Given the description of an element on the screen output the (x, y) to click on. 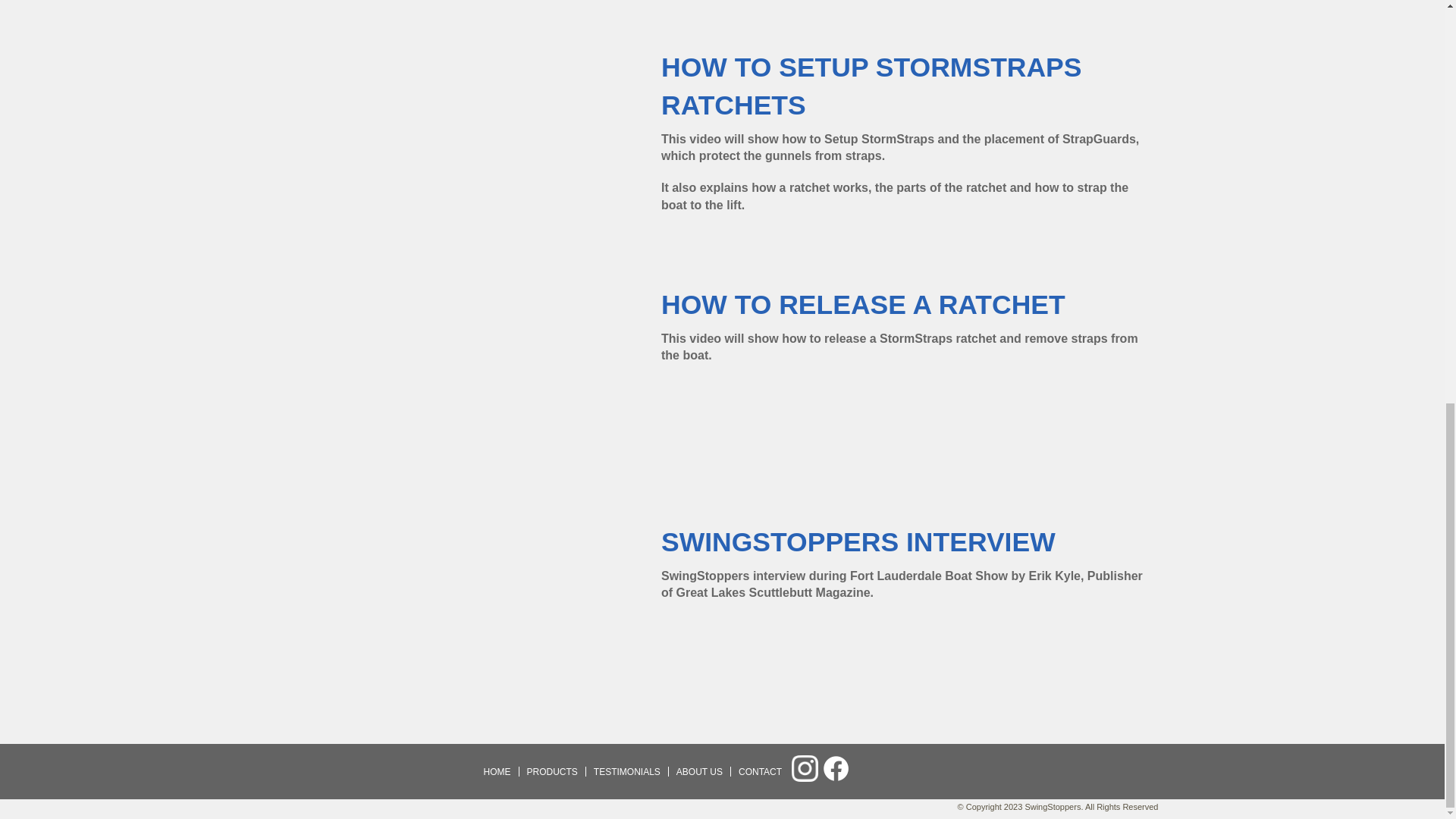
TESTIMONIALS (627, 771)
CONTACT (759, 771)
HOME (497, 771)
PRODUCTS (550, 771)
ABOUT US (699, 771)
